Given the description of an element on the screen output the (x, y) to click on. 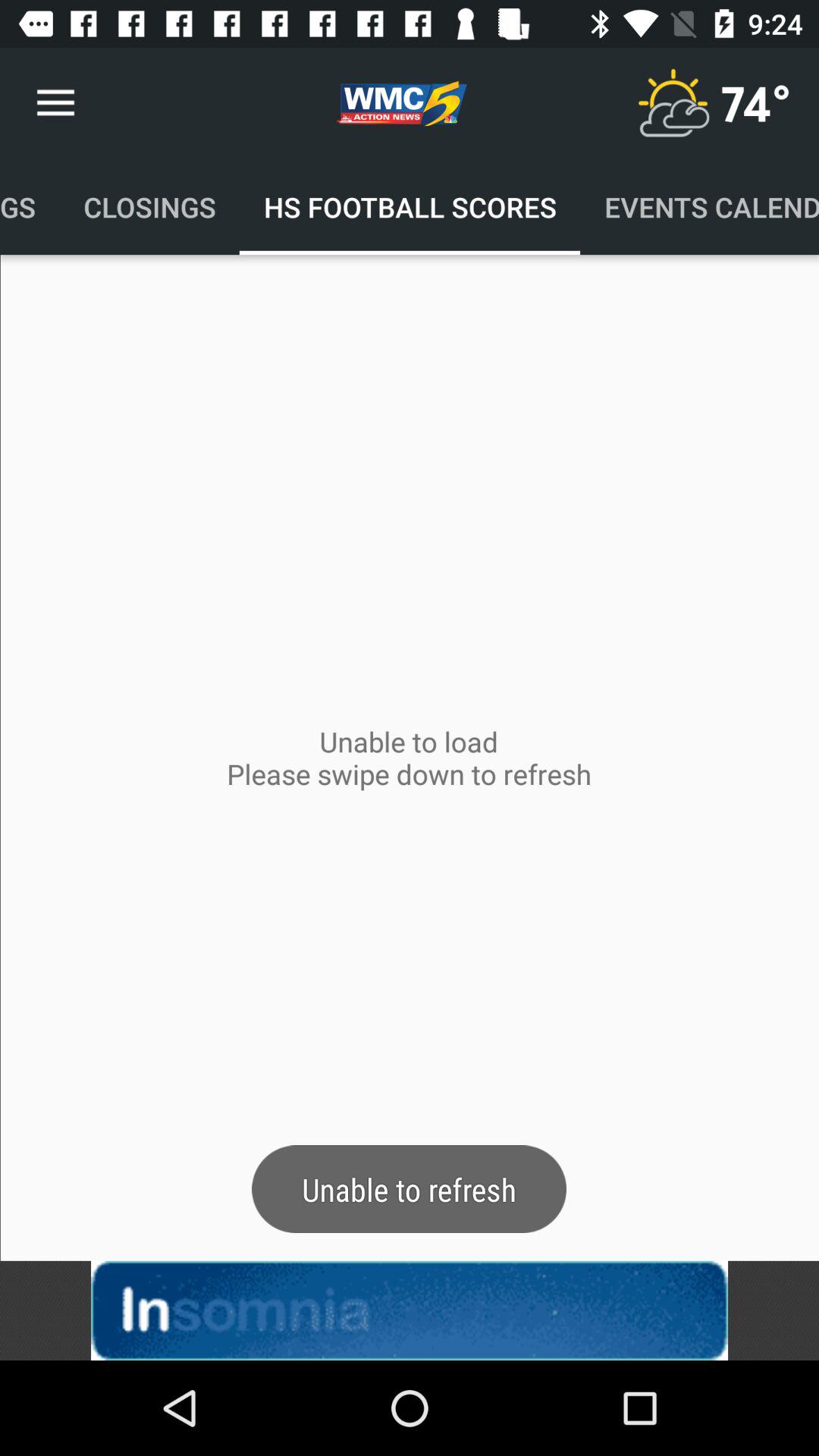
temperature button (673, 103)
